Given the description of an element on the screen output the (x, y) to click on. 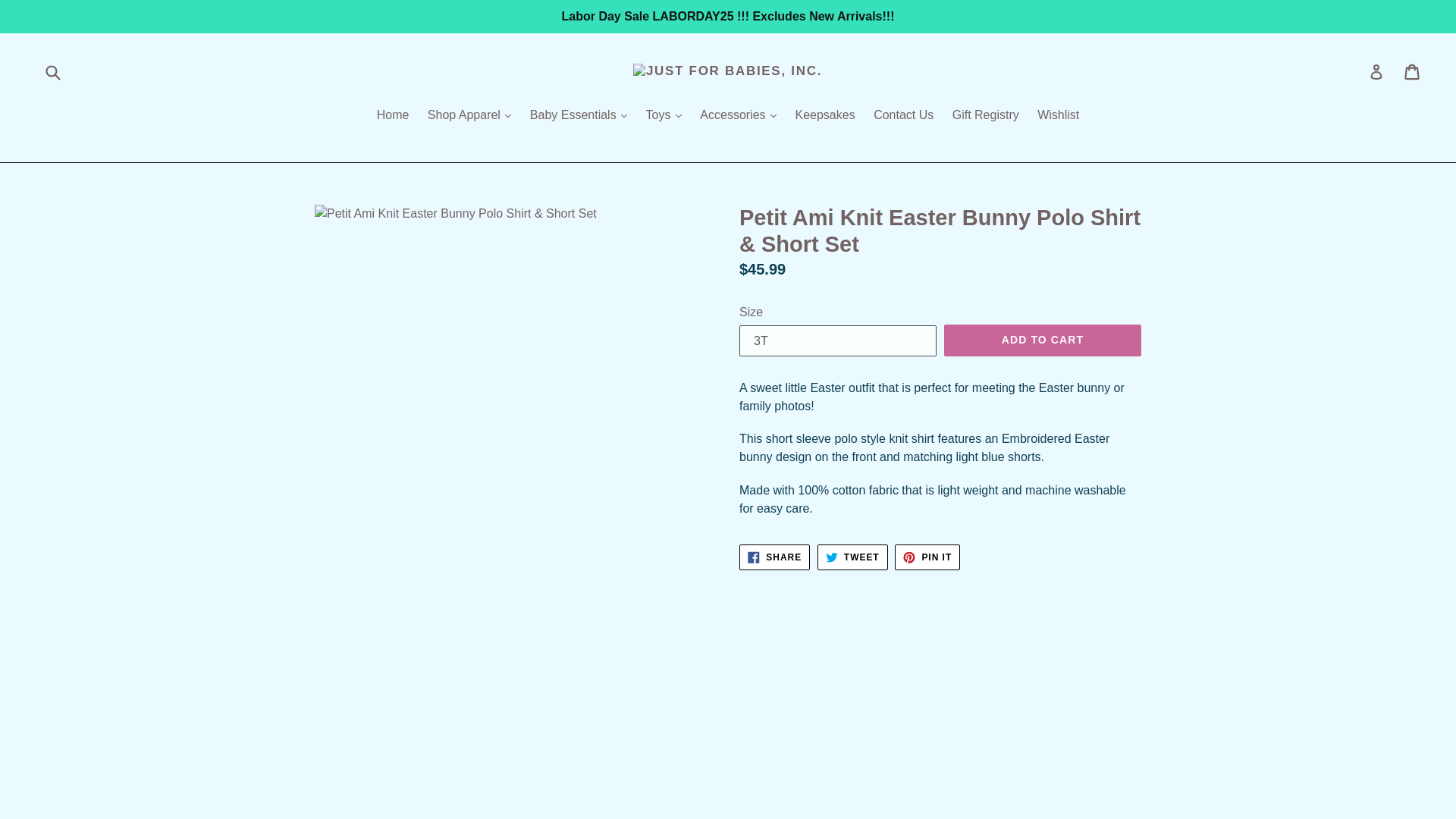
Share on Facebook (774, 557)
Tweet on Twitter (852, 557)
Pin on Pinterest (927, 557)
